Given the description of an element on the screen output the (x, y) to click on. 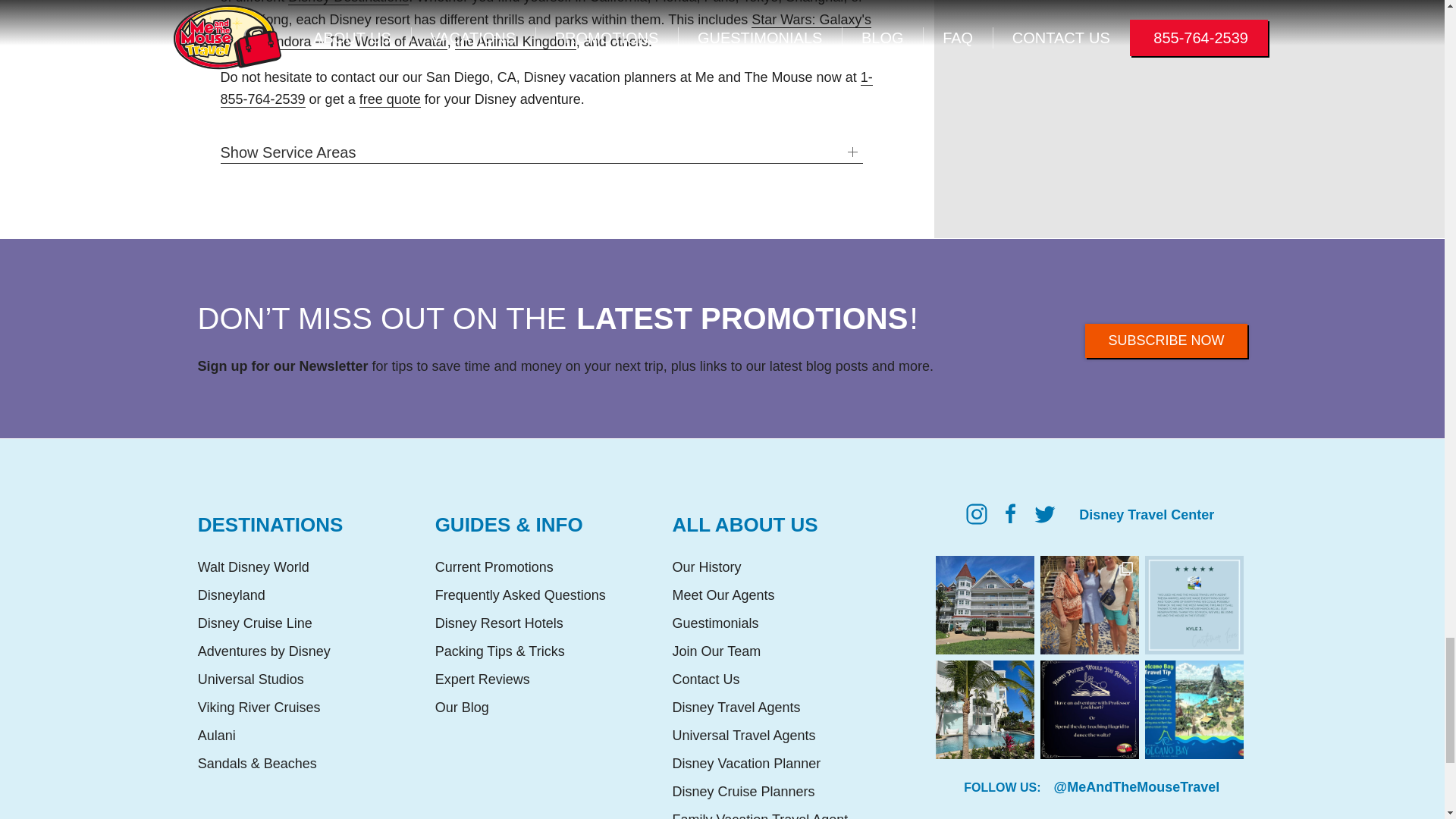
Disney Destinations (348, 2)
Galaxy's Edge (544, 30)
Animal Kingdom (515, 41)
Pandora (353, 41)
